Given the description of an element on the screen output the (x, y) to click on. 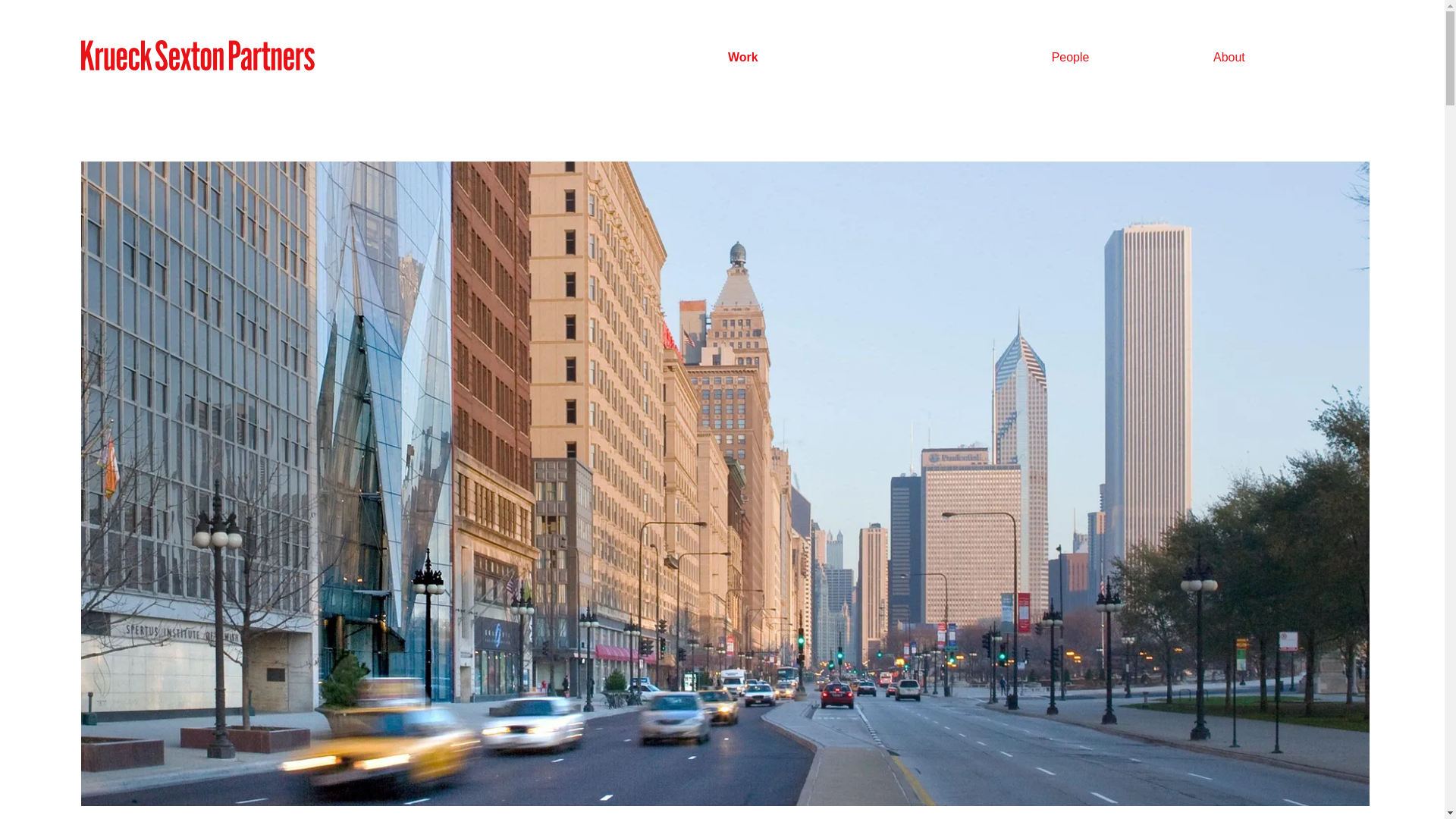
People (1070, 56)
Work (743, 56)
About (1228, 56)
